Given the description of an element on the screen output the (x, y) to click on. 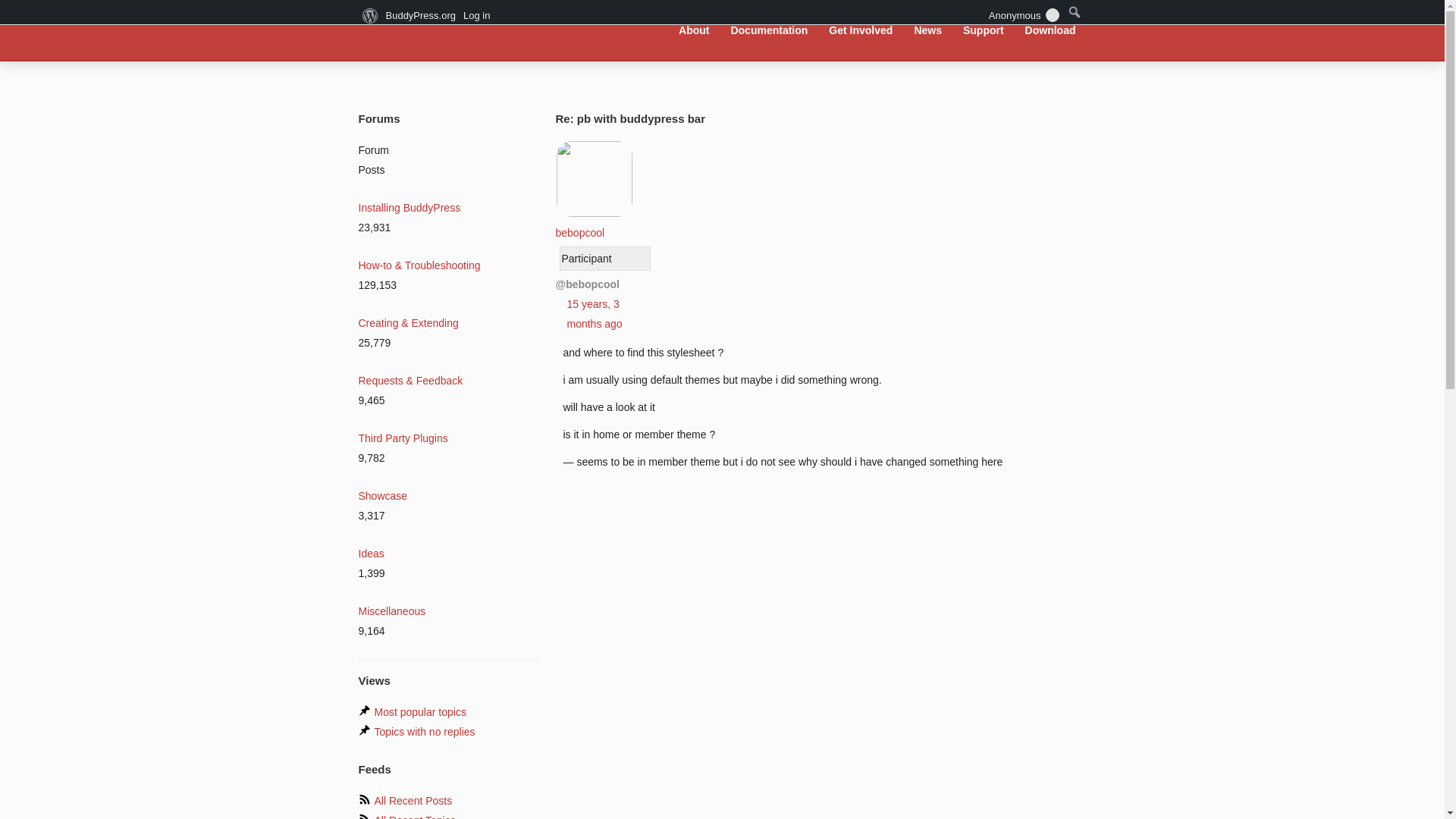
BuddyPress.org (458, 29)
About (693, 29)
Topics with no replies (425, 731)
Get Involved (861, 29)
All Recent Posts (413, 800)
Miscellaneous (391, 611)
Ideas (371, 553)
News (927, 29)
Showcase (382, 495)
bebopcool (592, 223)
Documentation (768, 29)
All Recent Topics (414, 816)
Installing BuddyPress (409, 207)
Download (1050, 29)
Third Party Plugins (402, 438)
